Given the description of an element on the screen output the (x, y) to click on. 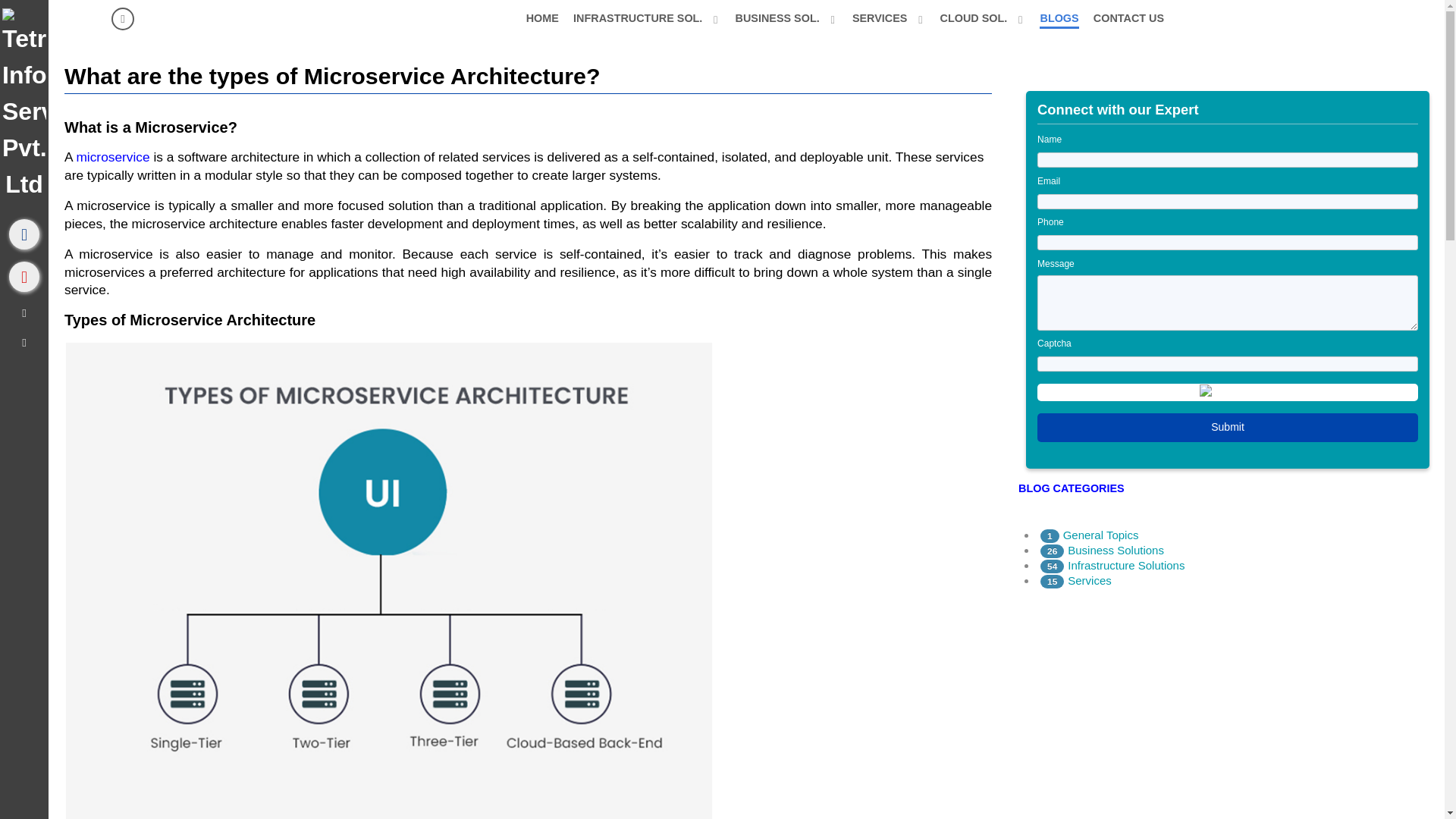
SERVICES (888, 17)
BUSINESS SOL. (786, 17)
INFRASTRUCTURE SOL. (646, 17)
HOME (541, 18)
Submit (1227, 427)
INFRASTRUCTURE SOL. (646, 17)
HOME (541, 18)
BUSINESS SOL. (786, 17)
